Given the description of an element on the screen output the (x, y) to click on. 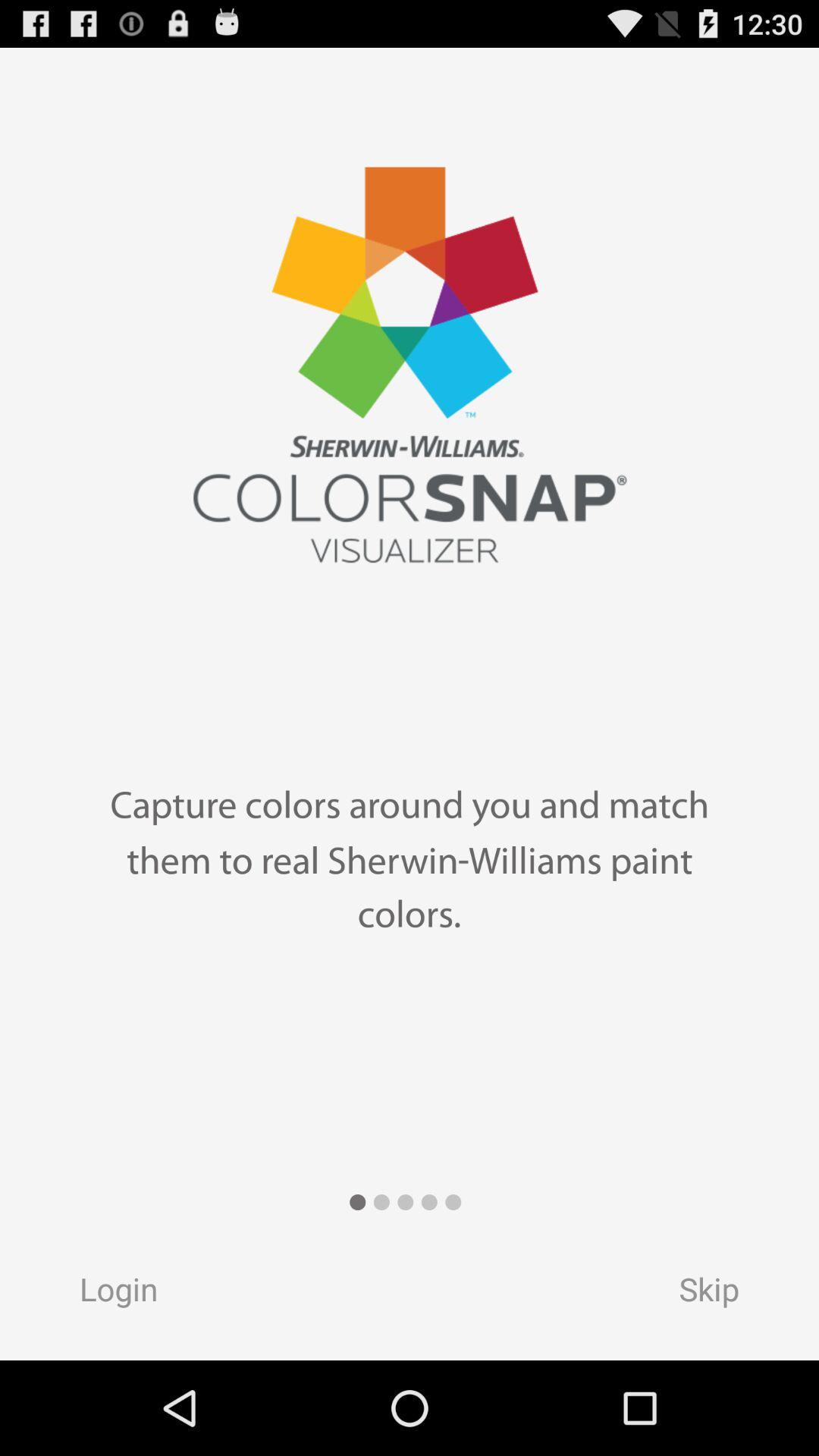
open item below the capture colors around app (724, 1293)
